Given the description of an element on the screen output the (x, y) to click on. 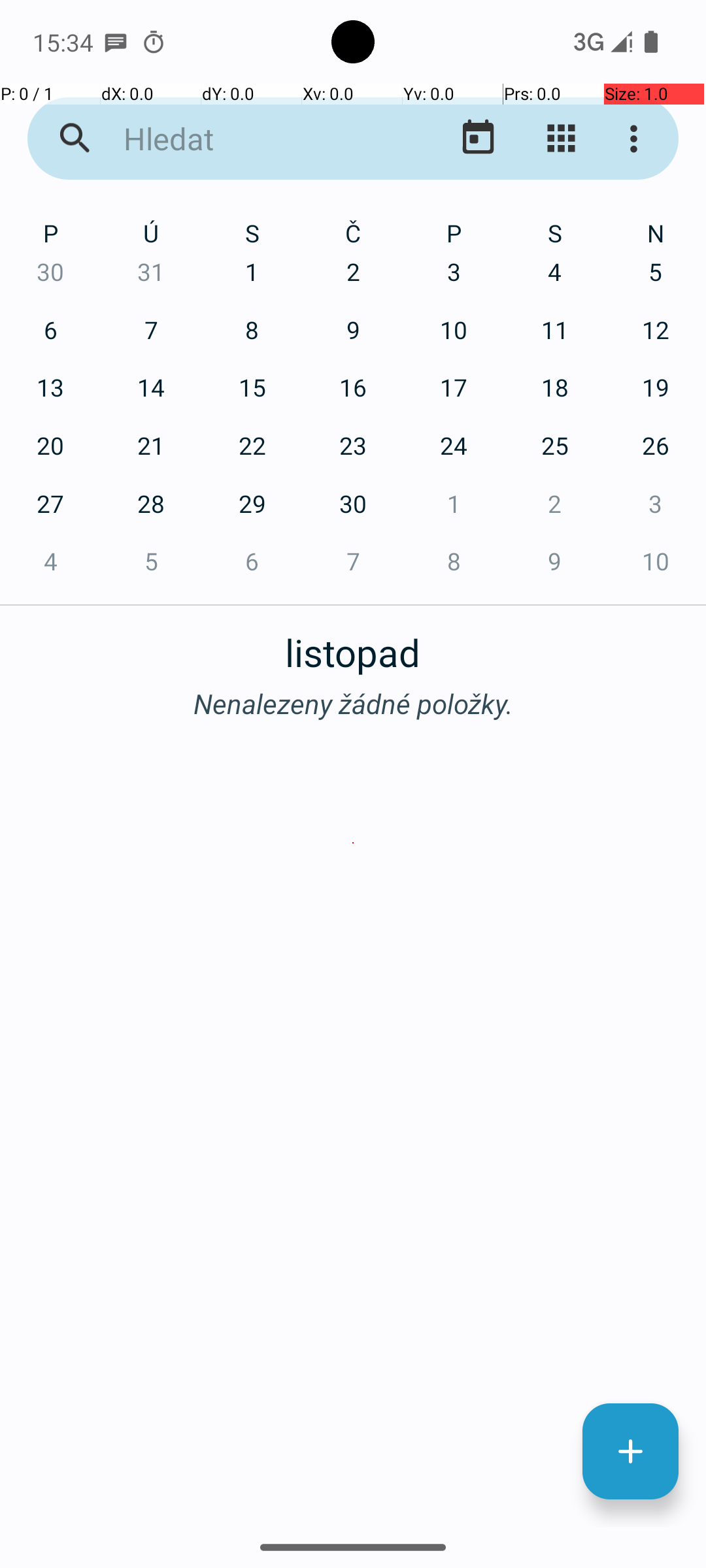
Přejít na dnešní datum Element type: android.widget.Button (477, 138)
listopad Element type: android.widget.TextView (352, 644)
Nenalezeny žádné položky. Element type: android.widget.TextView (352, 702)
SMS Messenger notification: +17247648679 Element type: android.widget.ImageView (115, 41)
